Given the description of an element on the screen output the (x, y) to click on. 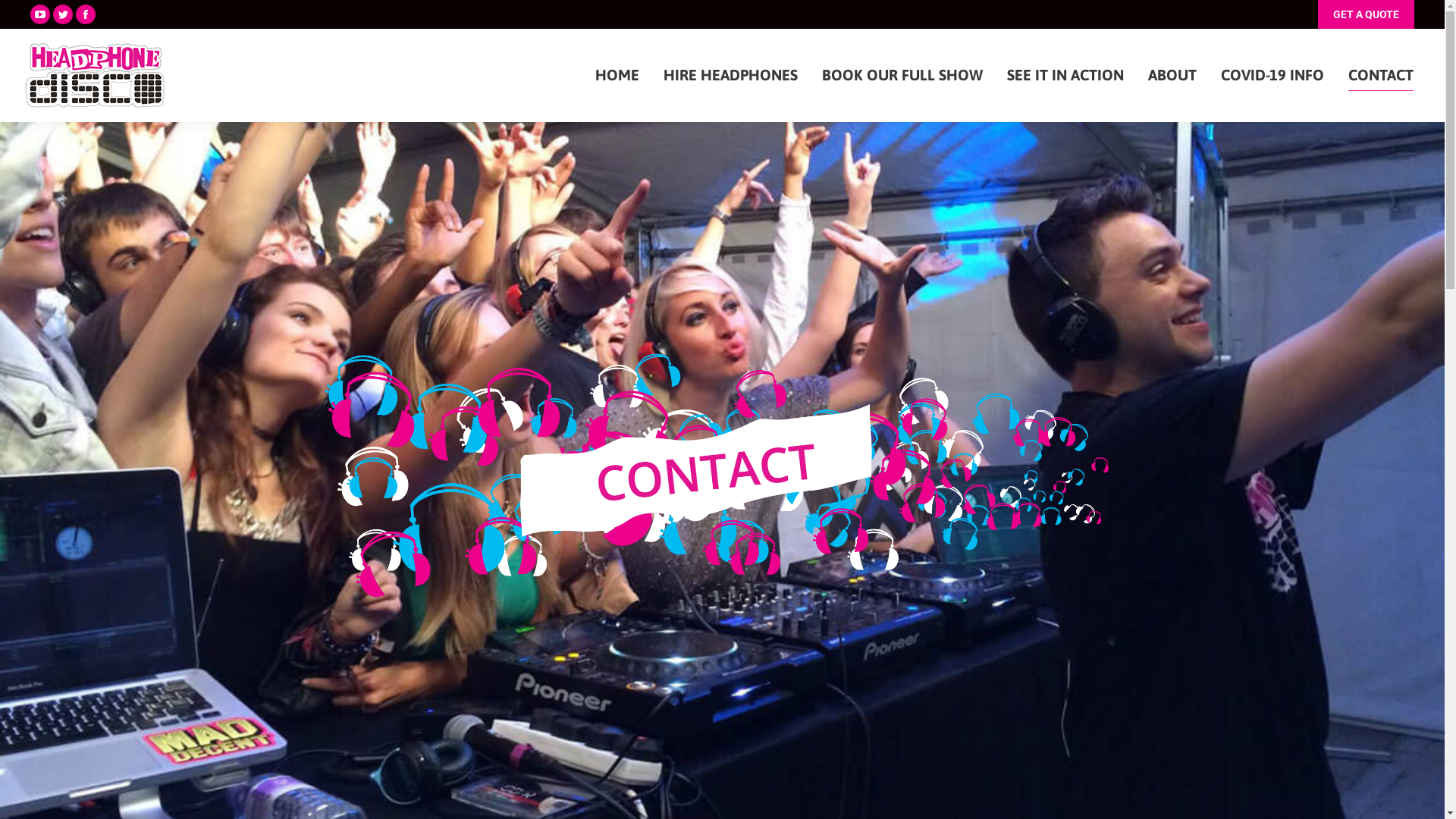
HOME Element type: text (616, 75)
ABOUT Element type: text (1171, 75)
HIRE HEADPHONES Element type: text (730, 75)
SEE IT IN ACTION Element type: text (1065, 75)
Facebook page opens in new window Element type: text (85, 14)
YouTube page opens in new window Element type: text (40, 14)
Twitter page opens in new window Element type: text (62, 14)
CONTACT Element type: text (1380, 75)
r-contact Element type: hover (721, 470)
GET A QUOTE Element type: text (1365, 14)
COVID-19 INFO Element type: text (1272, 75)
BOOK OUR FULL SHOW Element type: text (902, 75)
